Given the description of an element on the screen output the (x, y) to click on. 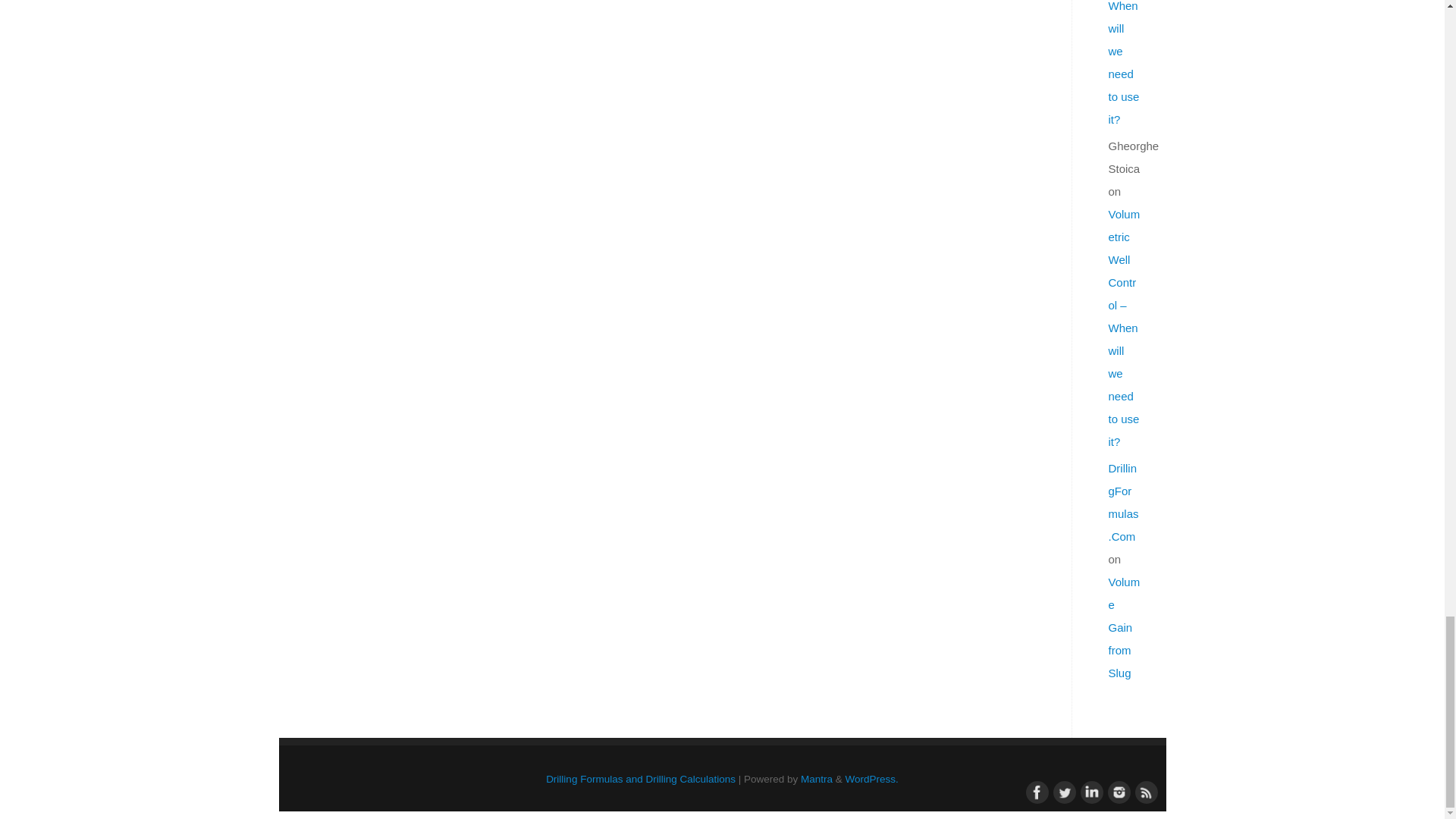
Mantra (816, 778)
Drilling Formulas and Drilling Calculations (640, 778)
